Given the description of an element on the screen output the (x, y) to click on. 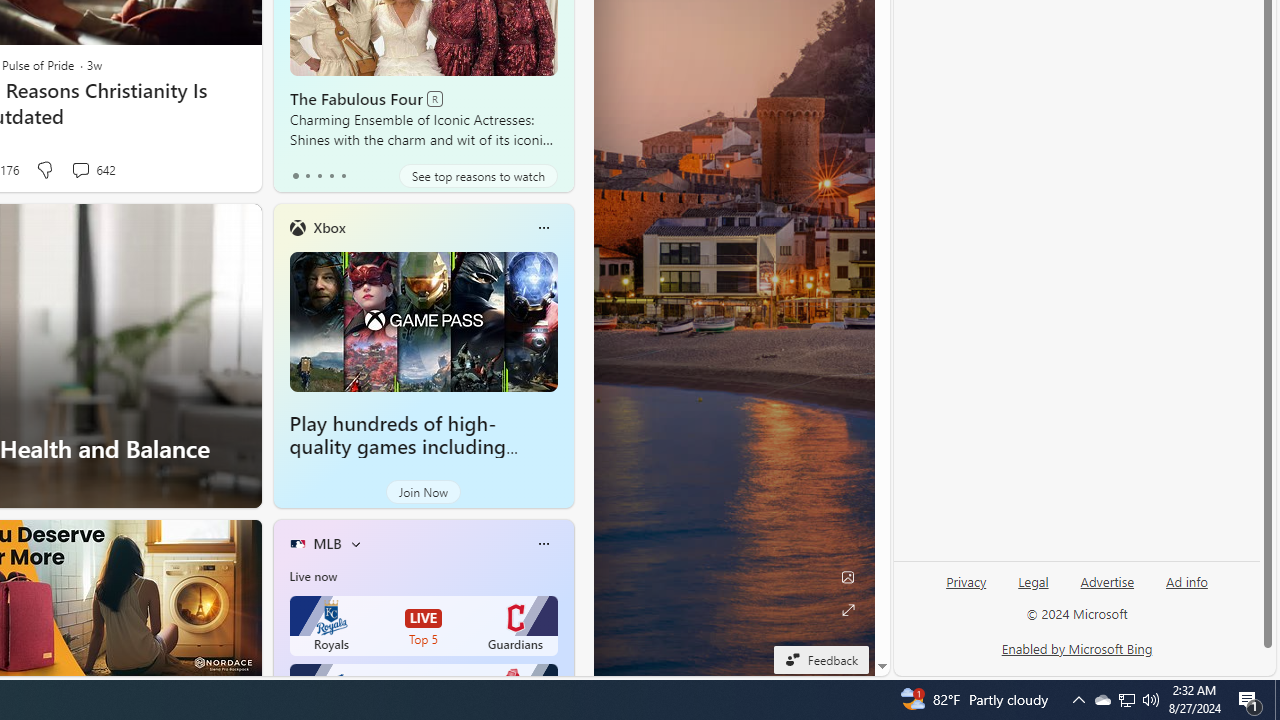
Royals LIVE Top 5 Guardians (423, 625)
View comments 642 Comment (80, 169)
Class: icon-img (543, 543)
Ad info (1187, 582)
Legal (1033, 582)
More interests (355, 543)
Dislike (43, 170)
tab-3 (331, 175)
Edit Background (847, 577)
Ad info (1186, 589)
Legal (1033, 589)
